Given the description of an element on the screen output the (x, y) to click on. 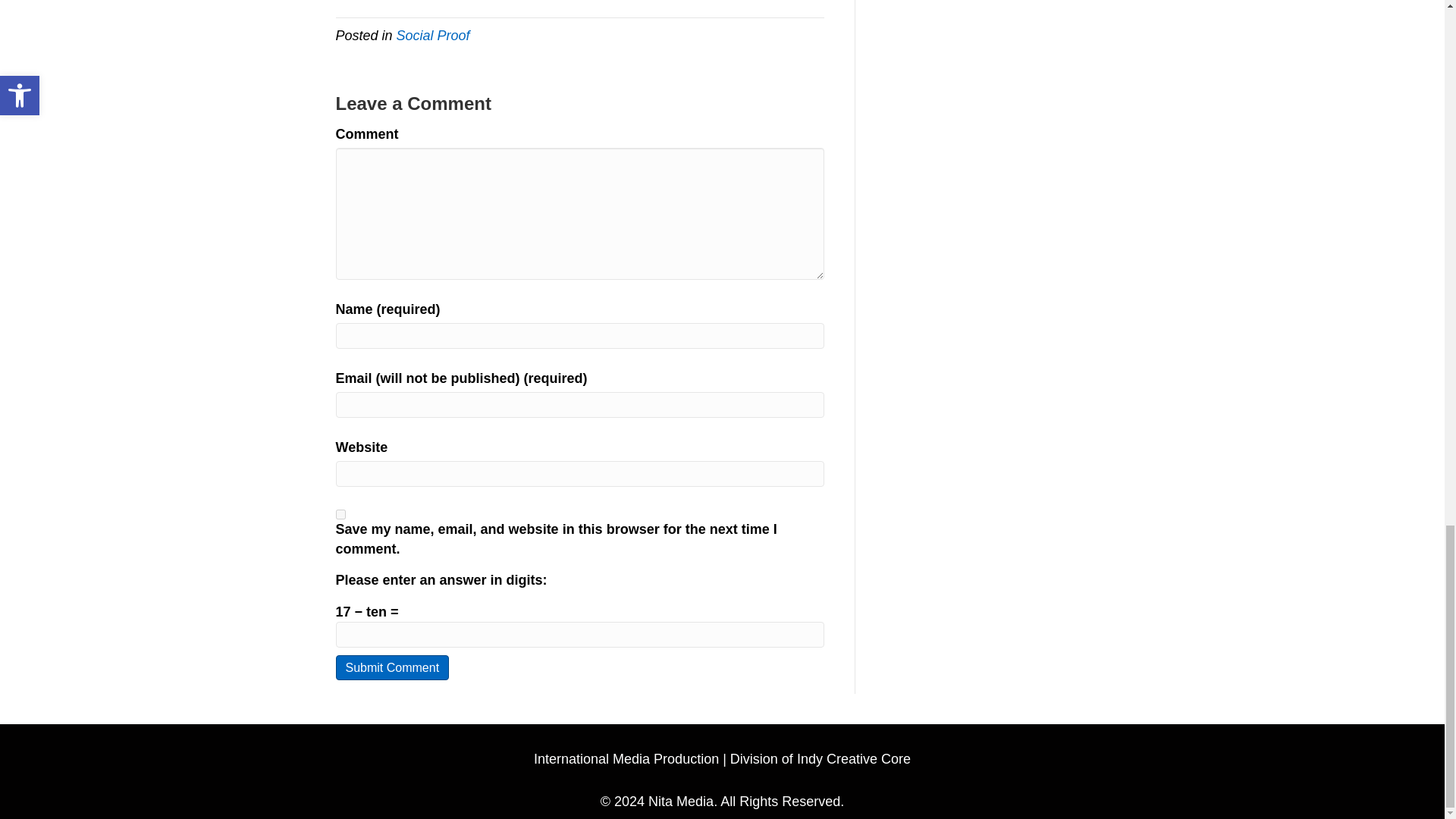
Indy Creative Core (853, 758)
Submit Comment (391, 667)
yes (339, 514)
Submit Comment (391, 667)
Social Proof (433, 35)
